Given the description of an element on the screen output the (x, y) to click on. 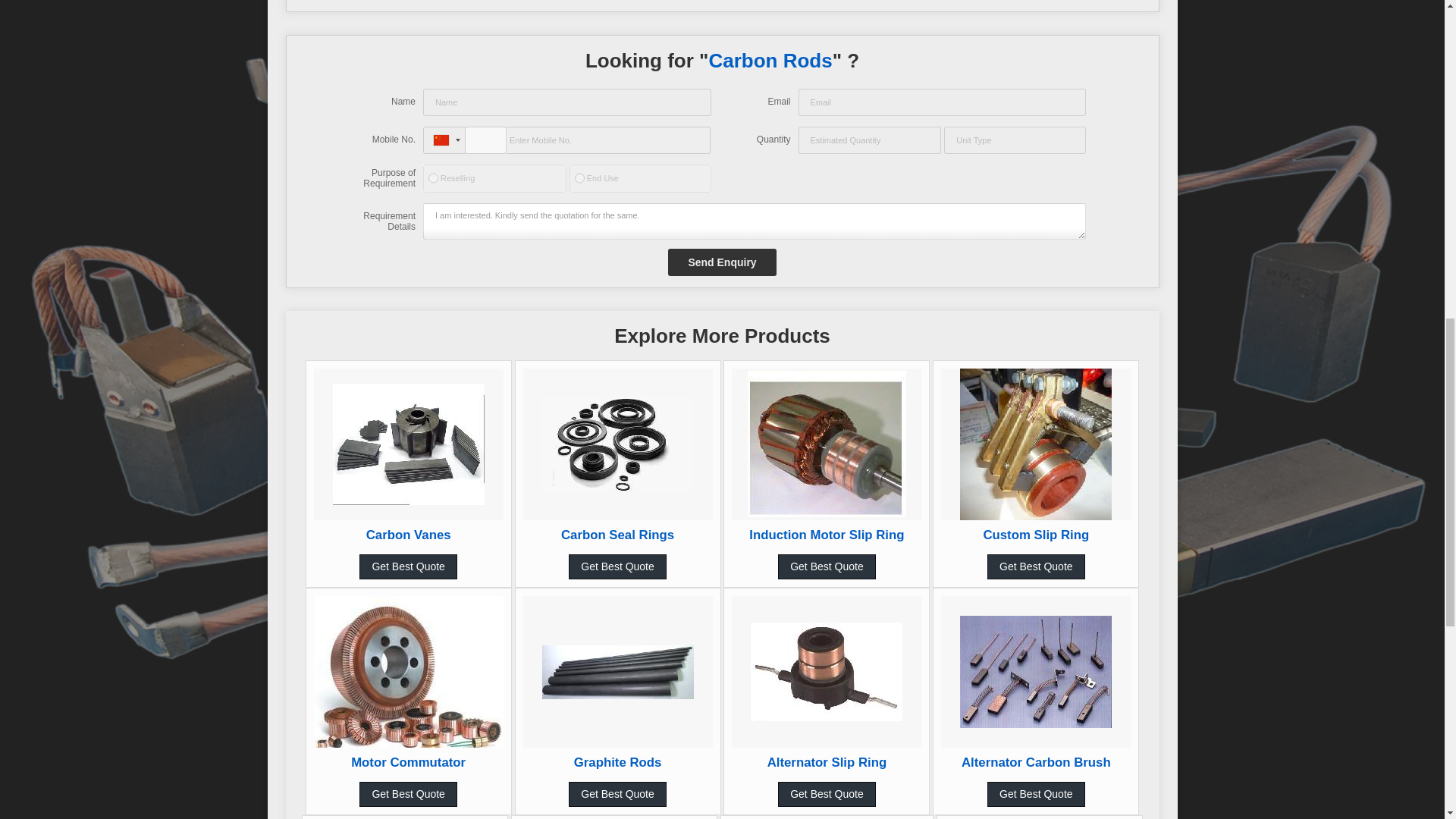
Get Best Quote (408, 566)
Carbon Seal Rings (617, 534)
Induction Motor Slip Ring (826, 534)
Get Best Quote (617, 566)
Send Enquiry (722, 262)
Send Enquiry (722, 262)
Carbon Vanes (408, 534)
Get Best Quote (826, 566)
